Given the description of an element on the screen output the (x, y) to click on. 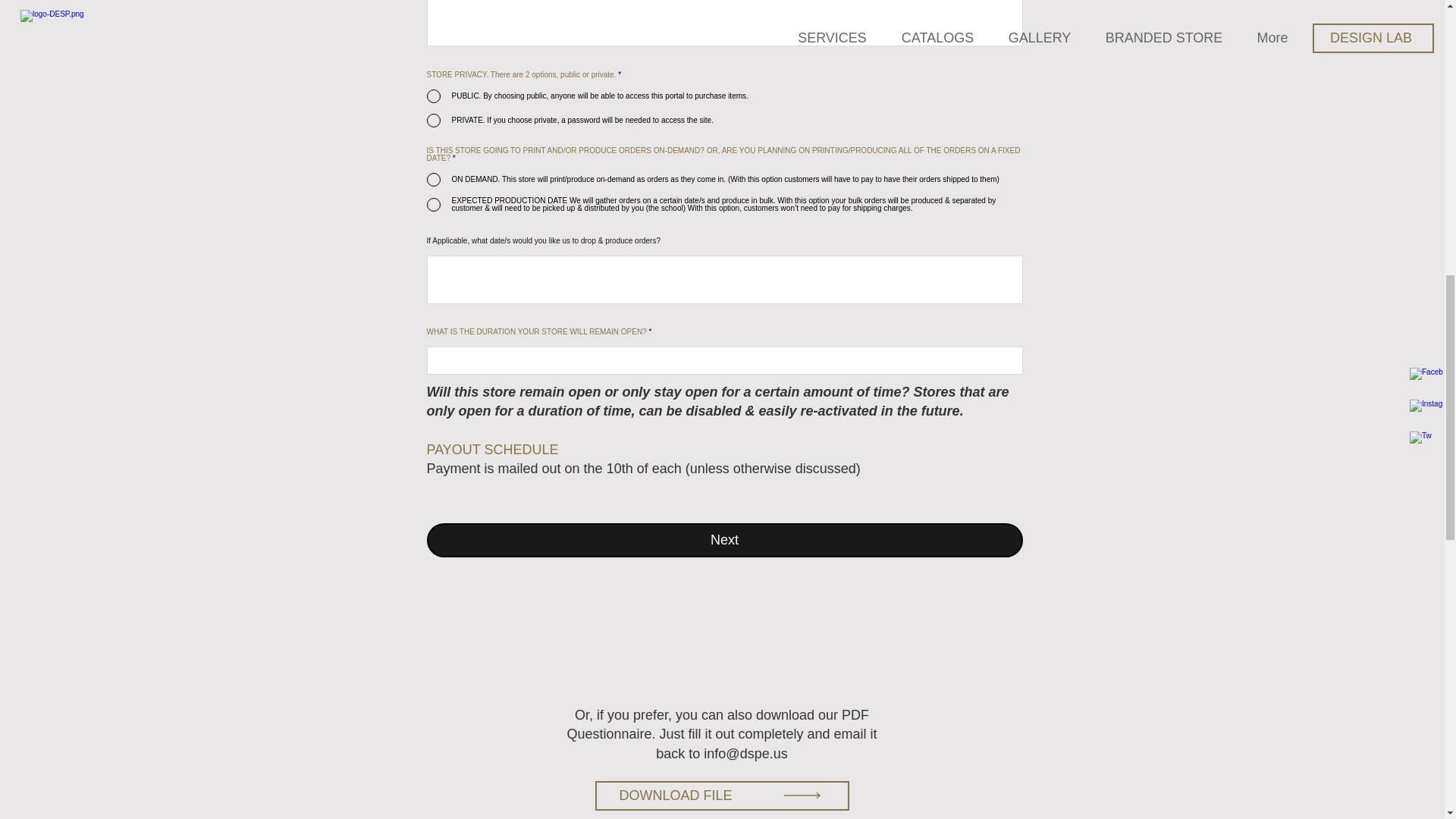
Next (724, 540)
DOWNLOAD FILE (721, 795)
